Given the description of an element on the screen output the (x, y) to click on. 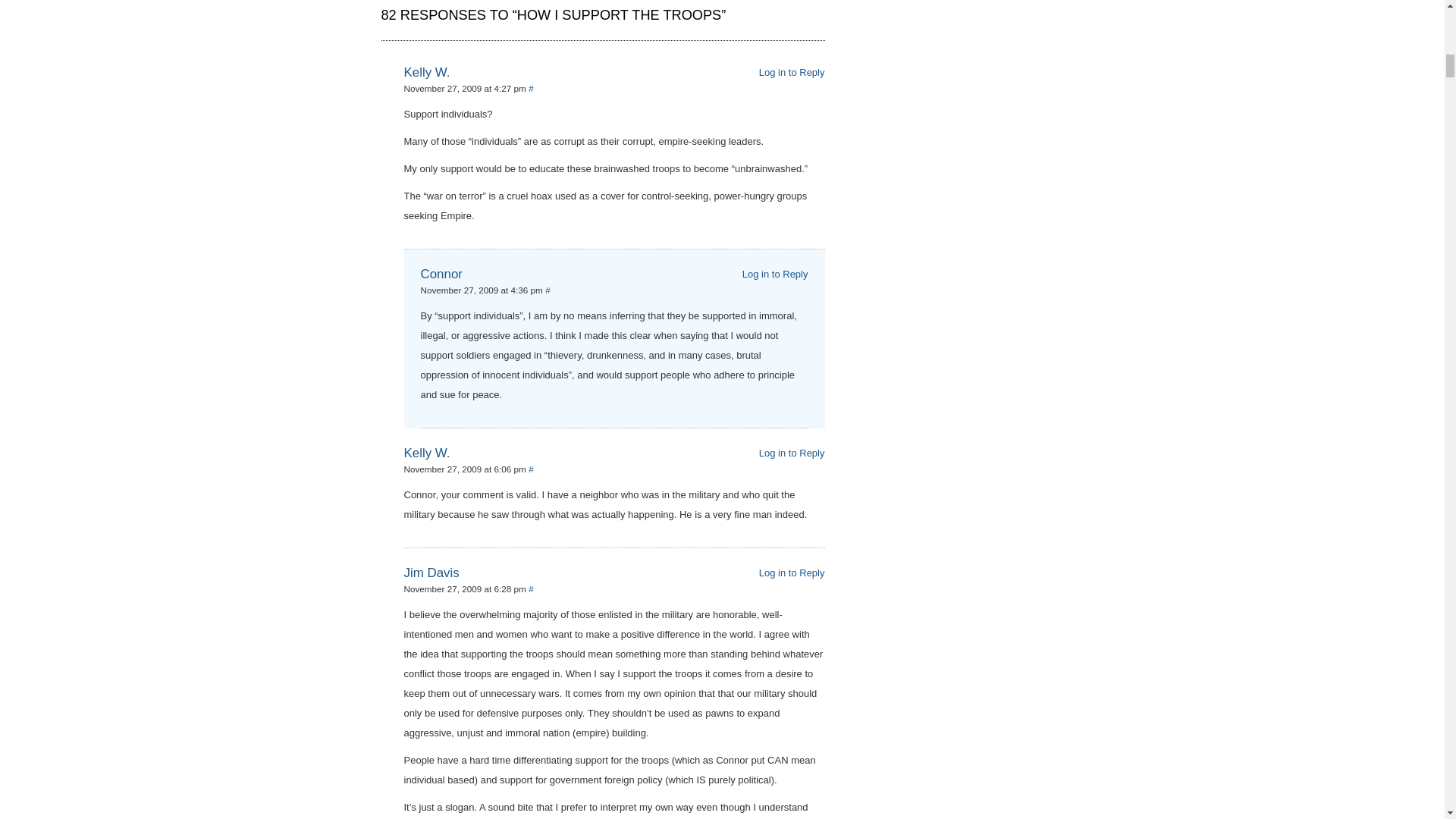
Log in to Reply (791, 452)
Log in to Reply (775, 274)
Log in to Reply (791, 572)
Log in to Reply (791, 71)
Kelly W. (426, 452)
Kelly W. (426, 72)
Connor (440, 273)
